Given the description of an element on the screen output the (x, y) to click on. 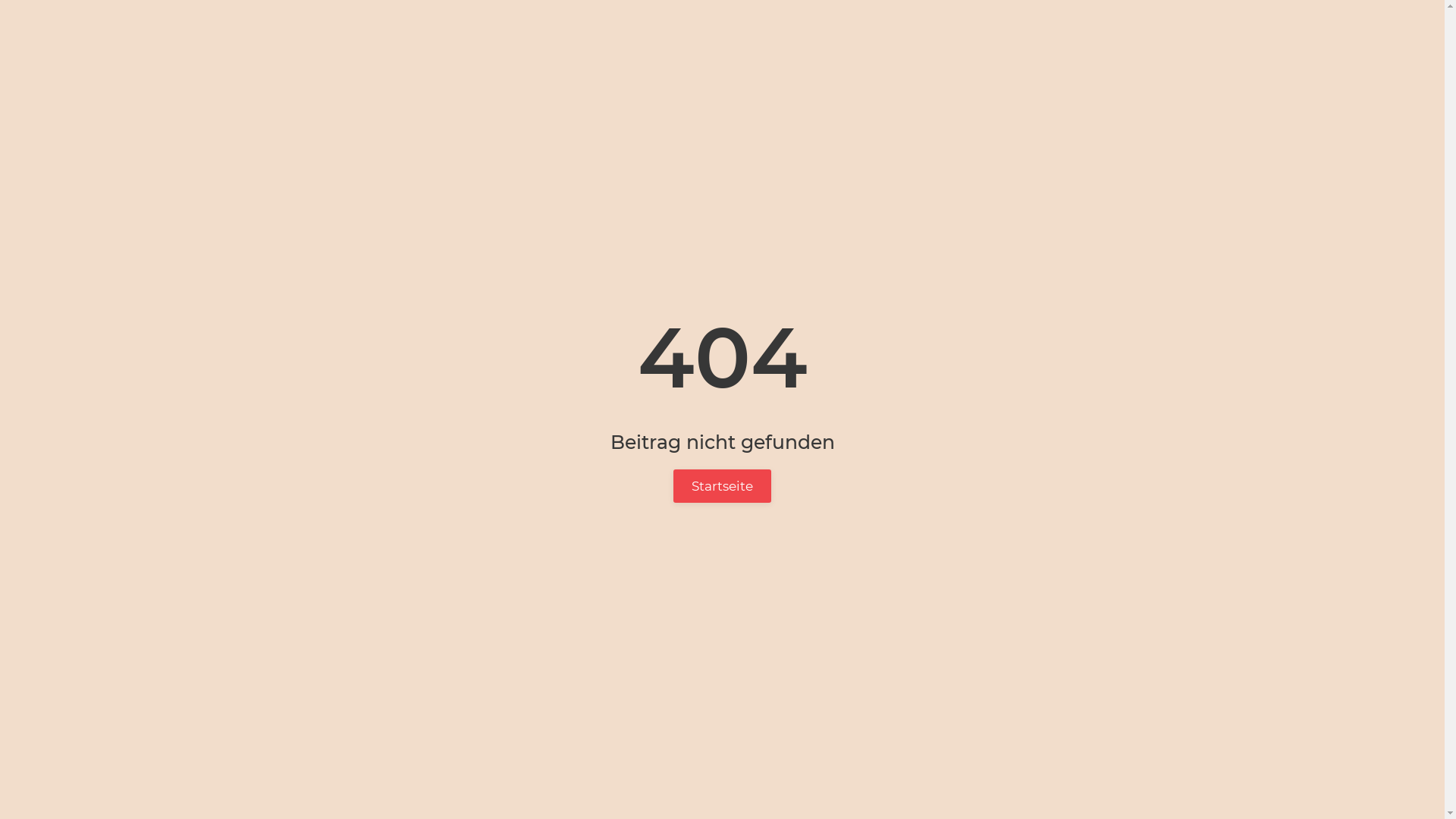
Startseite Element type: text (722, 485)
